Given the description of an element on the screen output the (x, y) to click on. 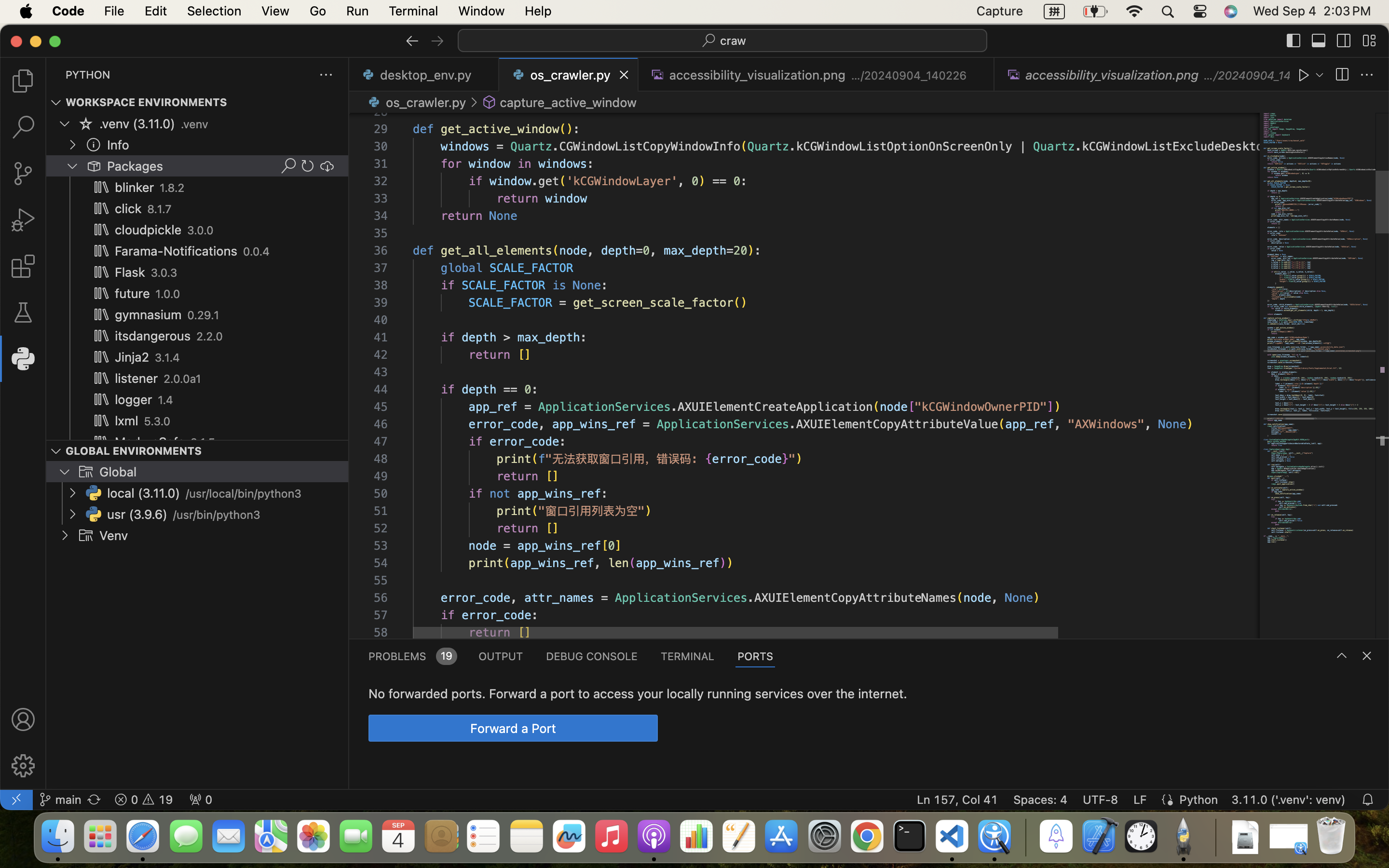
logger Element type: AXStaticText (133, 399)
/usr/local/bin/python3 Element type: AXStaticText (243, 493)
Flask Element type: AXStaticText (129, 272)
cloudpickle Element type: AXStaticText (148, 229)
Global Element type: AXStaticText (117, 471)
